Given the description of an element on the screen output the (x, y) to click on. 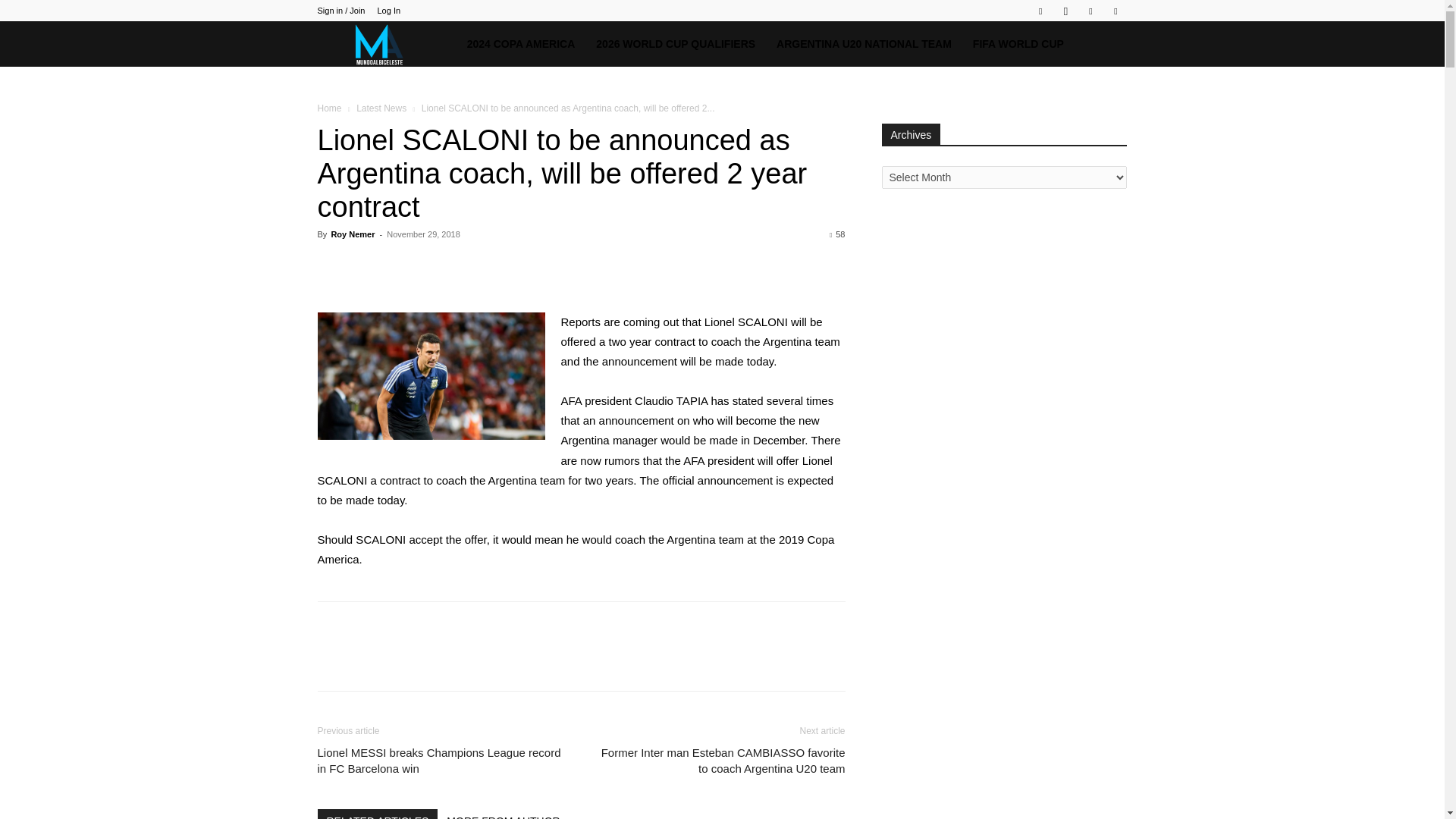
Mundo Albiceleste (386, 44)
View all posts in Latest News (381, 108)
Instagram (1065, 10)
Latest News (381, 108)
58 (837, 234)
Facebook (1040, 10)
FIFA WORLD CUP (1018, 43)
2026 WORLD CUP QUALIFIERS (675, 43)
ARGENTINA U20 NATIONAL TEAM (863, 43)
2024 COPA AMERICA (521, 43)
